Given the description of an element on the screen output the (x, y) to click on. 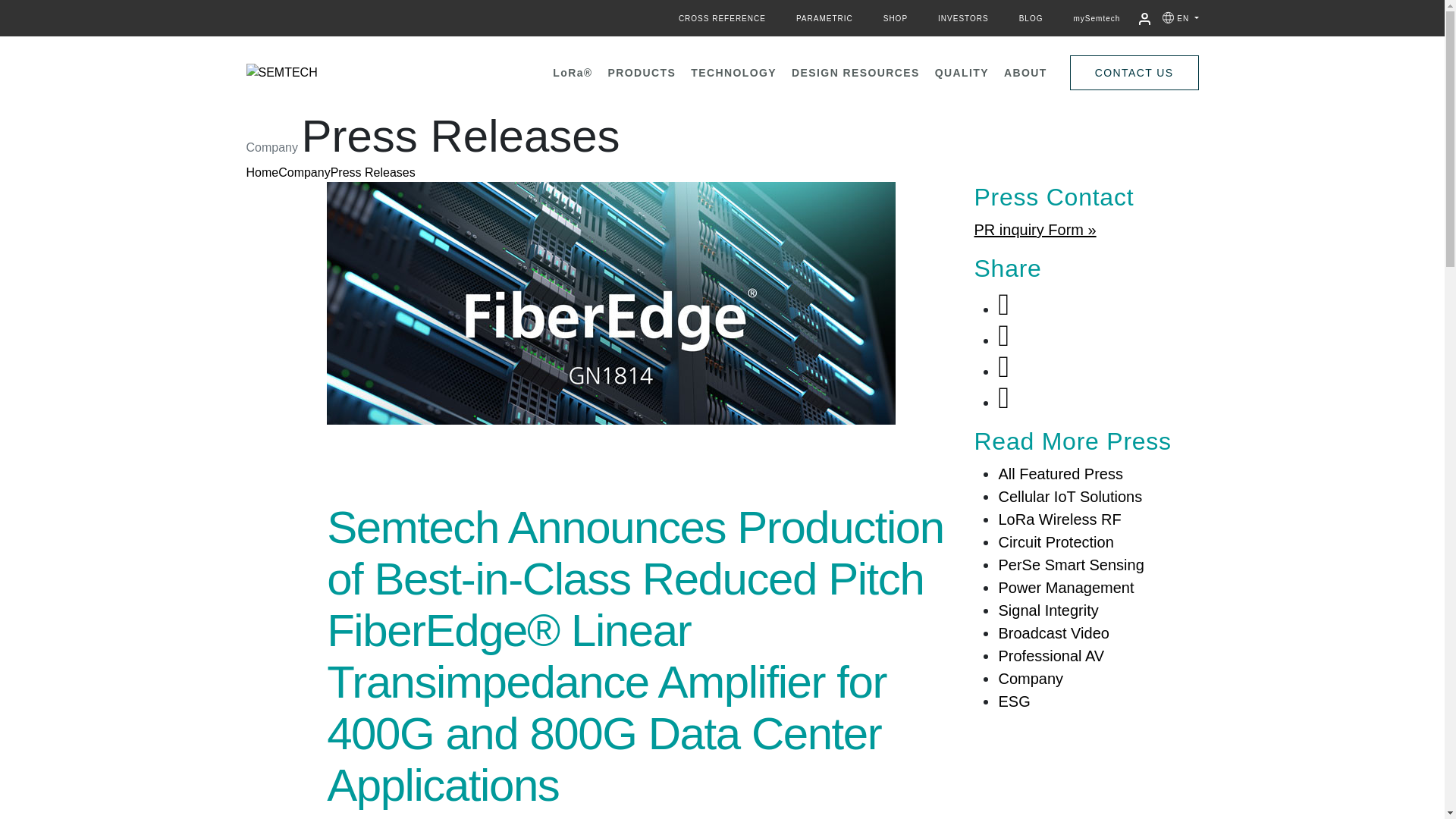
EN (1187, 17)
CROSS REFERENCE (721, 17)
Semtech (281, 72)
INVESTORS (963, 17)
smtc (281, 72)
BLOG (1031, 17)
PARAMETRIC (823, 17)
SHOP (895, 17)
mySemtech (1096, 18)
